Given the description of an element on the screen output the (x, y) to click on. 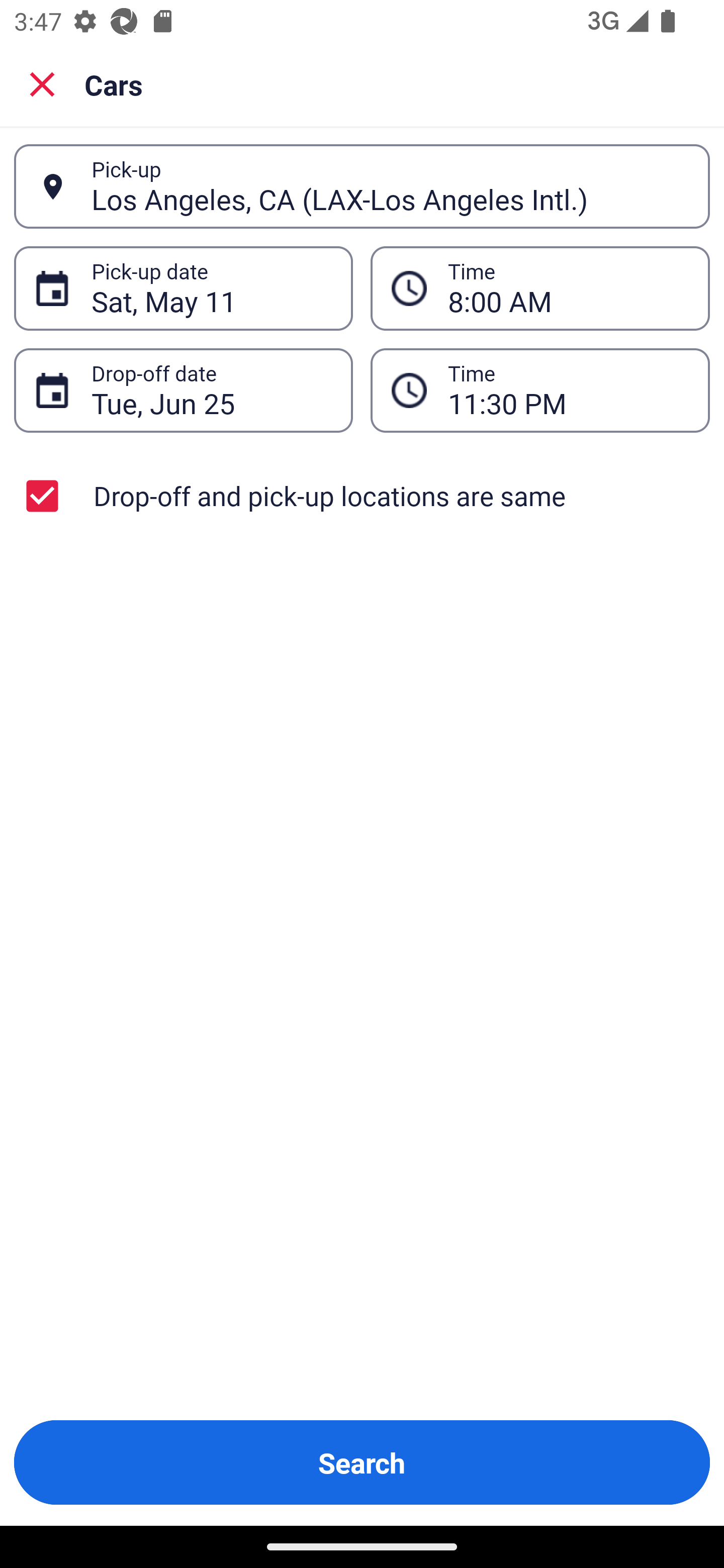
Close search screen (41, 83)
Los Angeles, CA (LAX-Los Angeles Intl.) Pick-up (361, 186)
Los Angeles, CA (LAX-Los Angeles Intl.) (389, 186)
Sat, May 11 Pick-up date (183, 288)
8:00 AM (540, 288)
Sat, May 11 (211, 288)
8:00 AM (568, 288)
Tue, Jun 25 Drop-off date (183, 390)
11:30 PM (540, 390)
Tue, Jun 25 (211, 390)
11:30 PM (568, 390)
Drop-off and pick-up locations are same (361, 495)
Search Button Search (361, 1462)
